Given the description of an element on the screen output the (x, y) to click on. 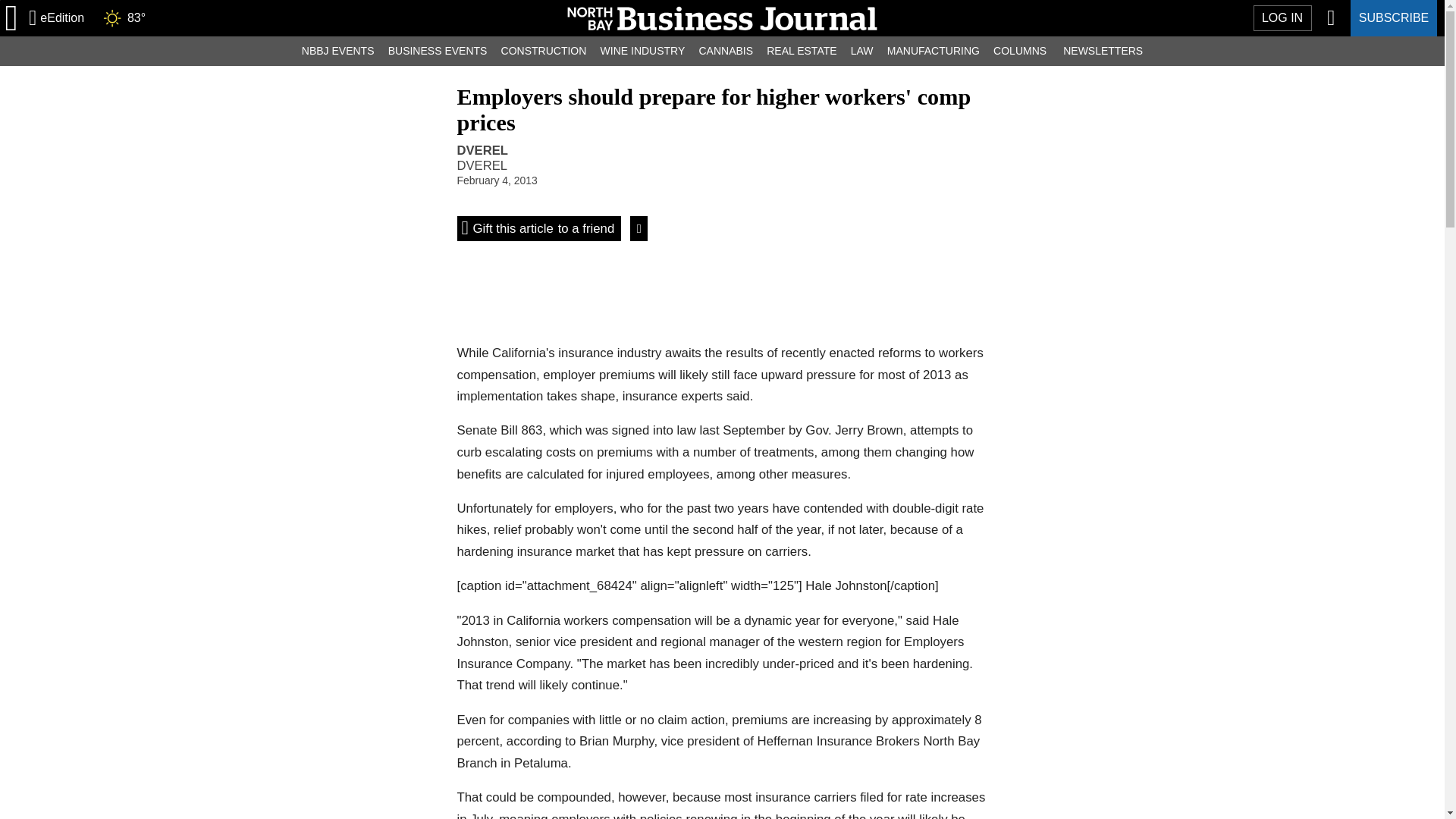
NBBJ EVENTS (338, 51)
Order Article Reprint (508, 195)
MANUFACTURING (933, 51)
BUSINESS EVENTS (438, 51)
CONSTRUCTION (542, 51)
WINE INDUSTRY (538, 228)
LOG IN (641, 51)
REAL ESTATE (1282, 17)
